Given the description of an element on the screen output the (x, y) to click on. 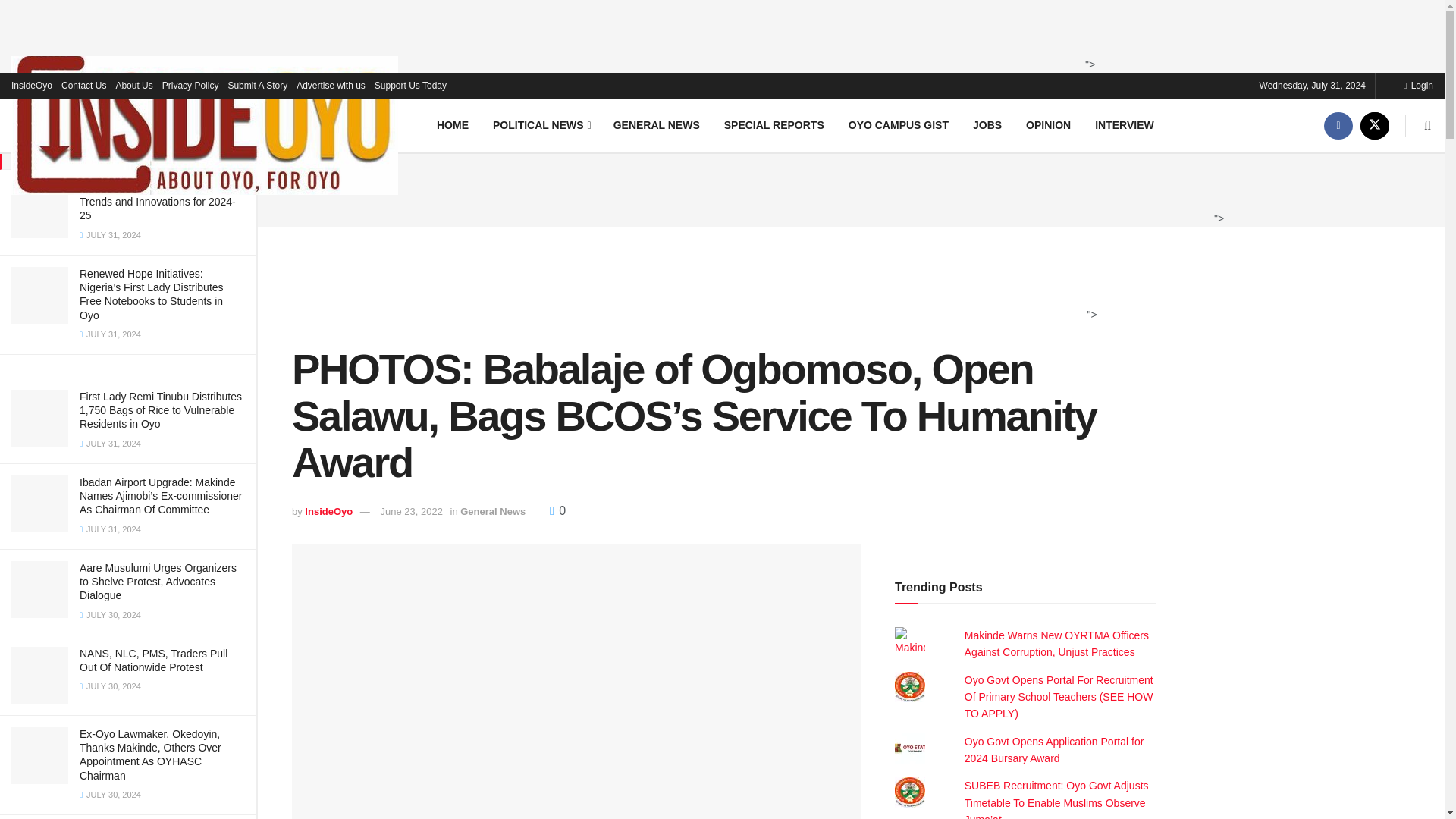
Submit A Story (256, 85)
HOME (452, 125)
About Us (133, 85)
Filter (227, 13)
Oyo Govt Opens Application Portal for 2024 Bursary Award (1053, 749)
Privacy Policy (190, 85)
POLITICAL NEWS (540, 125)
Support Us Today (410, 85)
Login (1417, 85)
InsideOyo (31, 85)
Contact Us (83, 85)
